Given the description of an element on the screen output the (x, y) to click on. 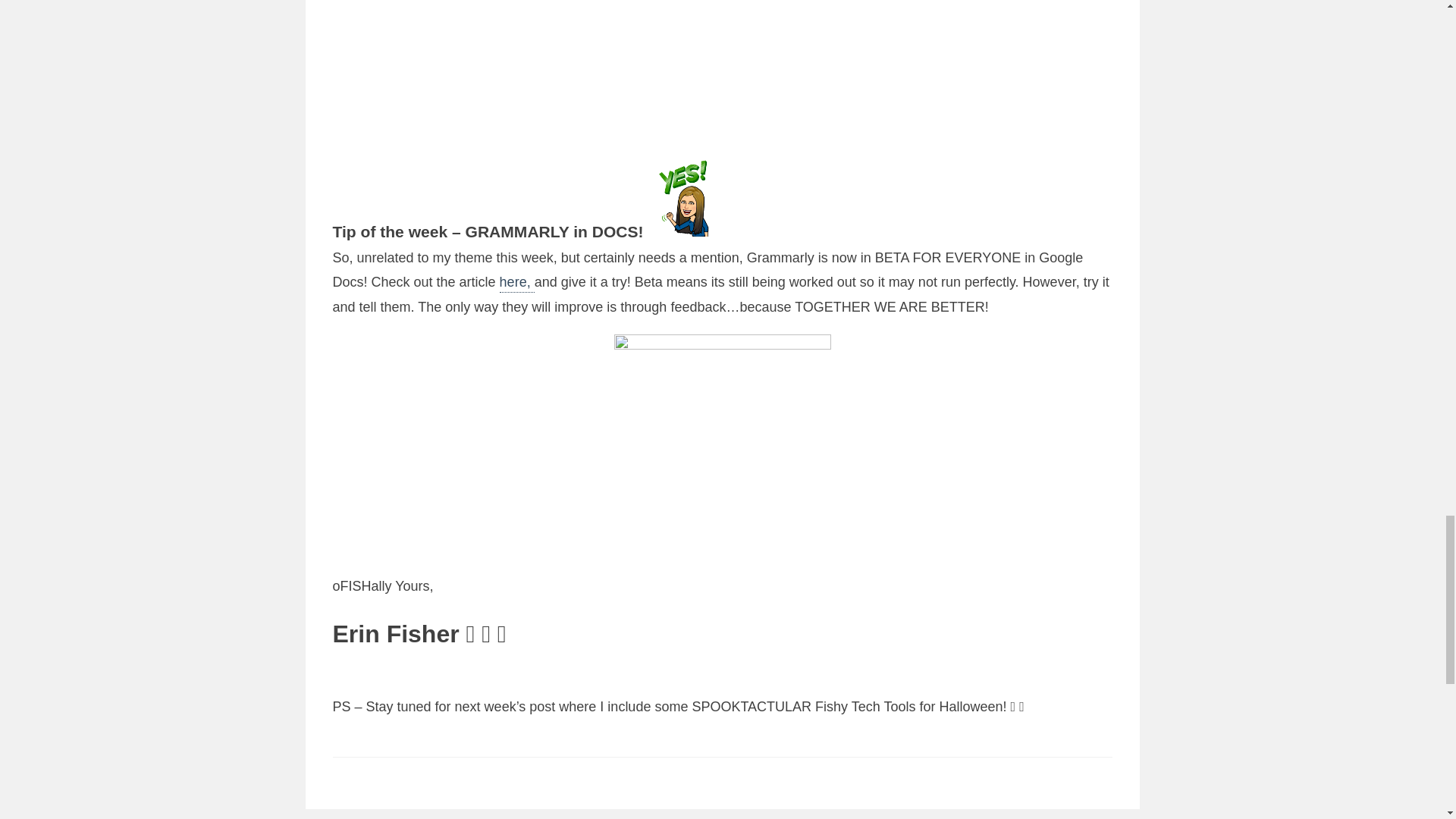
here, (516, 283)
